Given the description of an element on the screen output the (x, y) to click on. 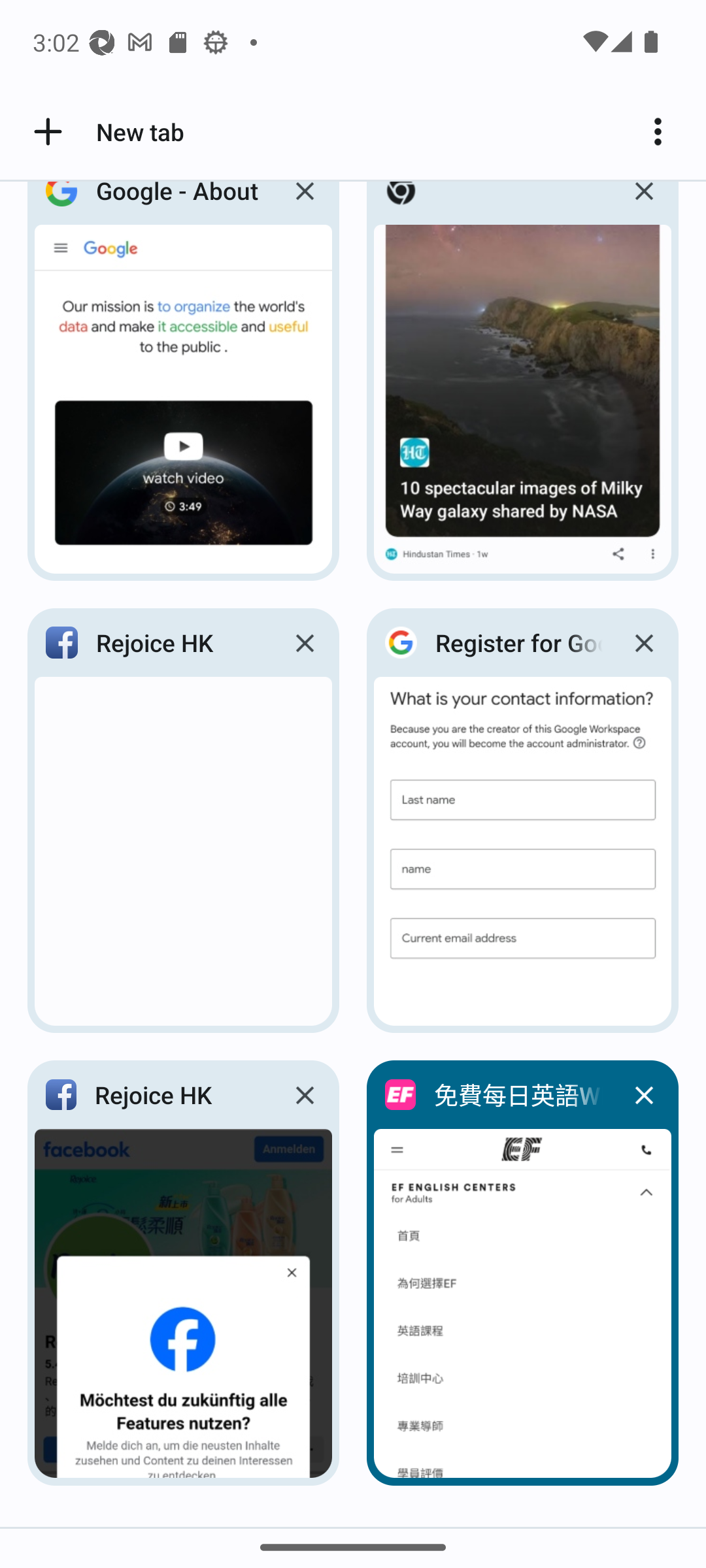
New tab (105, 131)
More options (664, 131)
More options (664, 131)
Close Google - About tab (304, 206)
, tab Close  tab (522, 387)
Close  tab (643, 206)
Rejoice HK Rejoice HK, tab Close Rejoice HK tab (183, 820)
Close Rejoice HK tab (304, 642)
Close Register for Google Workspace tab (643, 642)
Rejoice HK Rejoice HK, tab Close Rejoice HK tab (183, 1273)
Close Rejoice HK tab (304, 1094)
Close 免費每日英語WhatsApp頻道 tab (643, 1094)
